Given the description of an element on the screen output the (x, y) to click on. 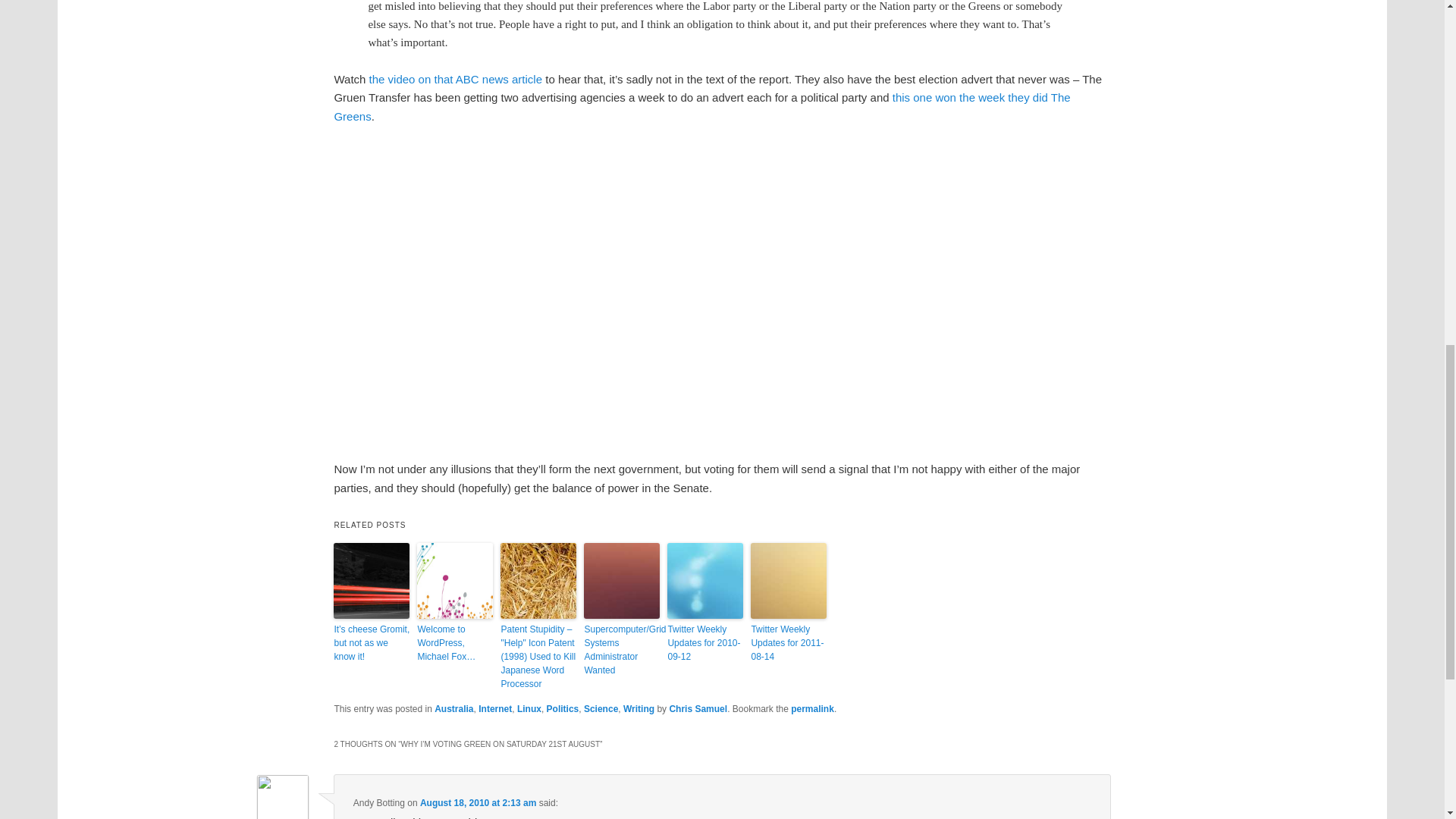
Internet (495, 708)
Twitter Weekly Updates for 2011-08-14 (789, 642)
Australia (453, 708)
Writing (638, 708)
the video on that ABC news article (455, 78)
Twitter Weekly Updates for 2010-09-12 (704, 642)
Science (600, 708)
Chris Samuel (697, 708)
this one won the week they did The Greens (701, 106)
Linux (528, 708)
